Given the description of an element on the screen output the (x, y) to click on. 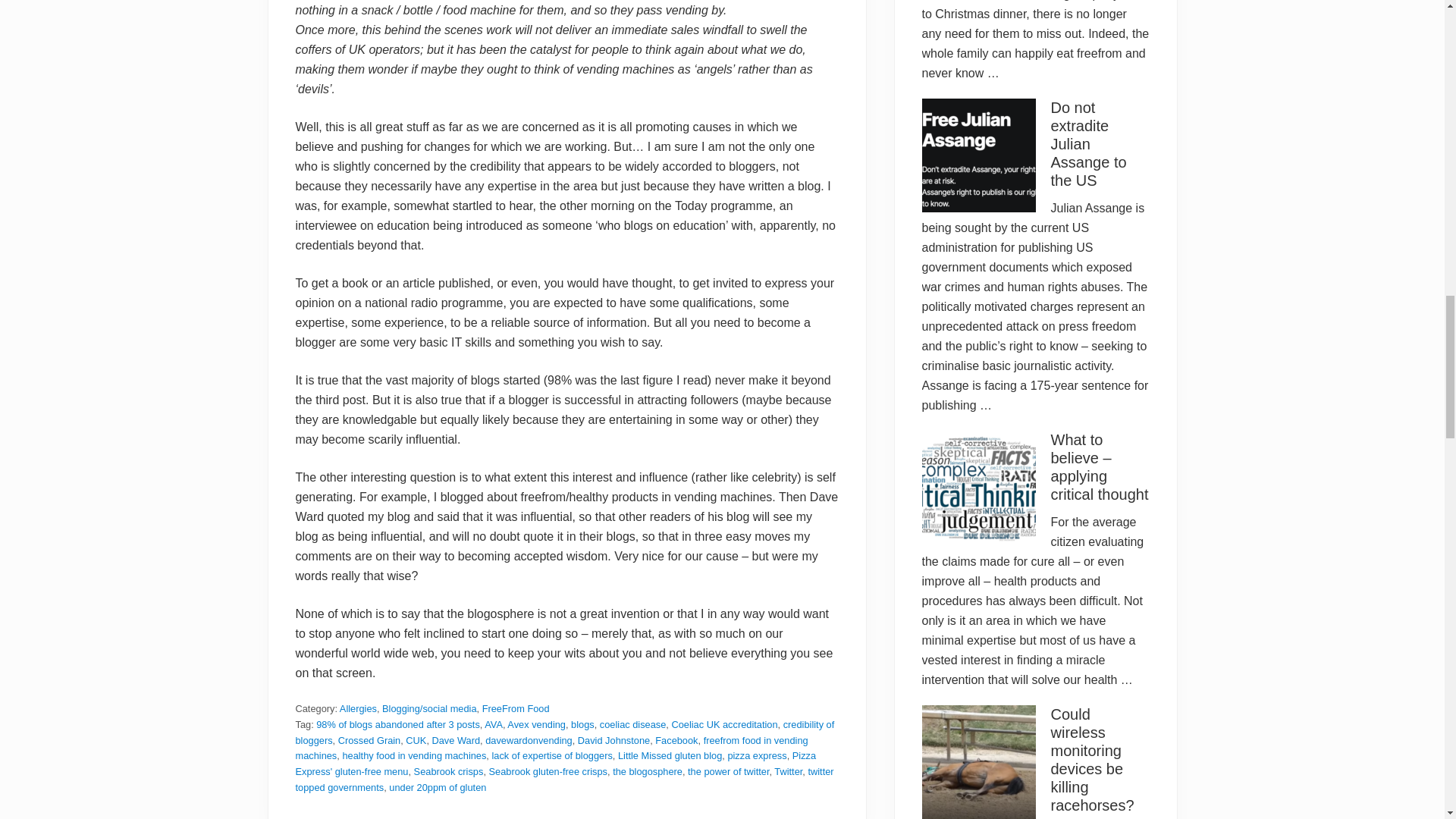
Allergies (358, 708)
Avex vending (536, 724)
FreeFrom Food (515, 708)
blogs (582, 724)
AVA (493, 724)
